Given the description of an element on the screen output the (x, y) to click on. 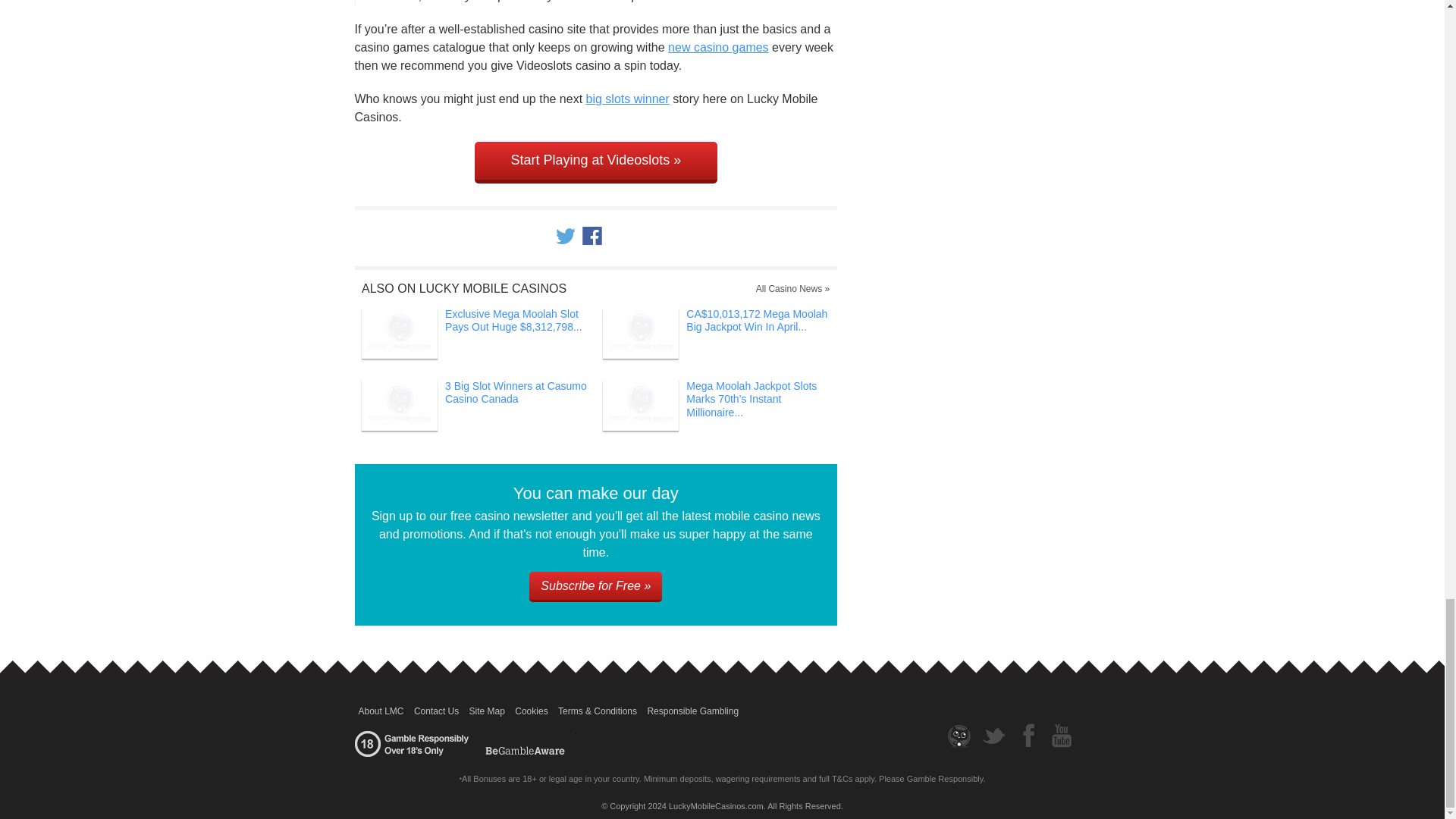
Facebook (592, 234)
Start Playing at Videoslots Mobile Casino (595, 162)
Twitter (564, 234)
big slots winner (627, 98)
new casino games (718, 47)
